Given the description of an element on the screen output the (x, y) to click on. 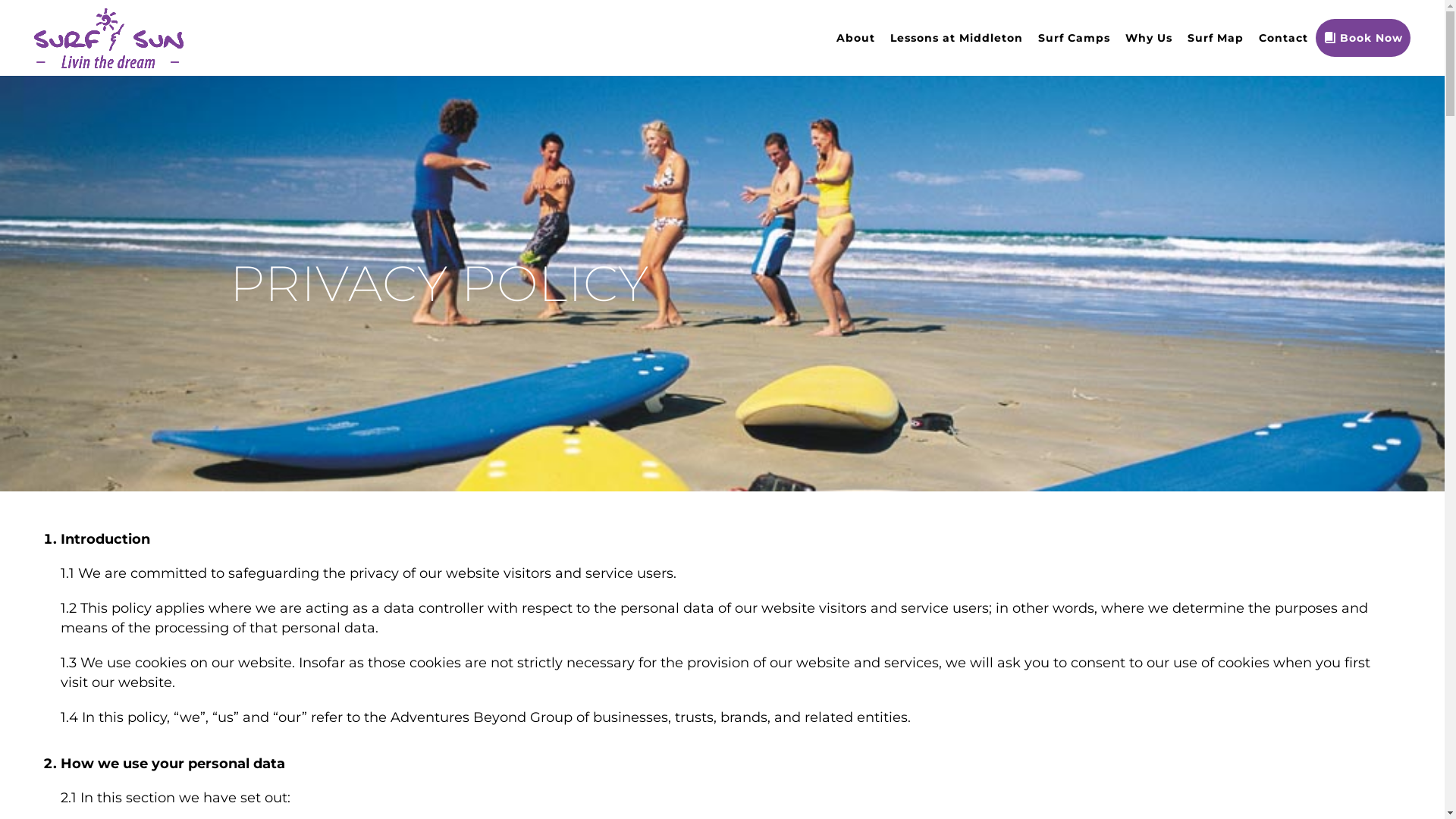
Surf Map Element type: text (1215, 37)
Contact Element type: text (1283, 37)
Surf Camps Element type: text (1073, 37)
About Element type: text (855, 37)
Book Now Element type: text (1362, 37)
Lessons at Middleton Element type: text (956, 37)
Why Us Element type: text (1148, 37)
